Given the description of an element on the screen output the (x, y) to click on. 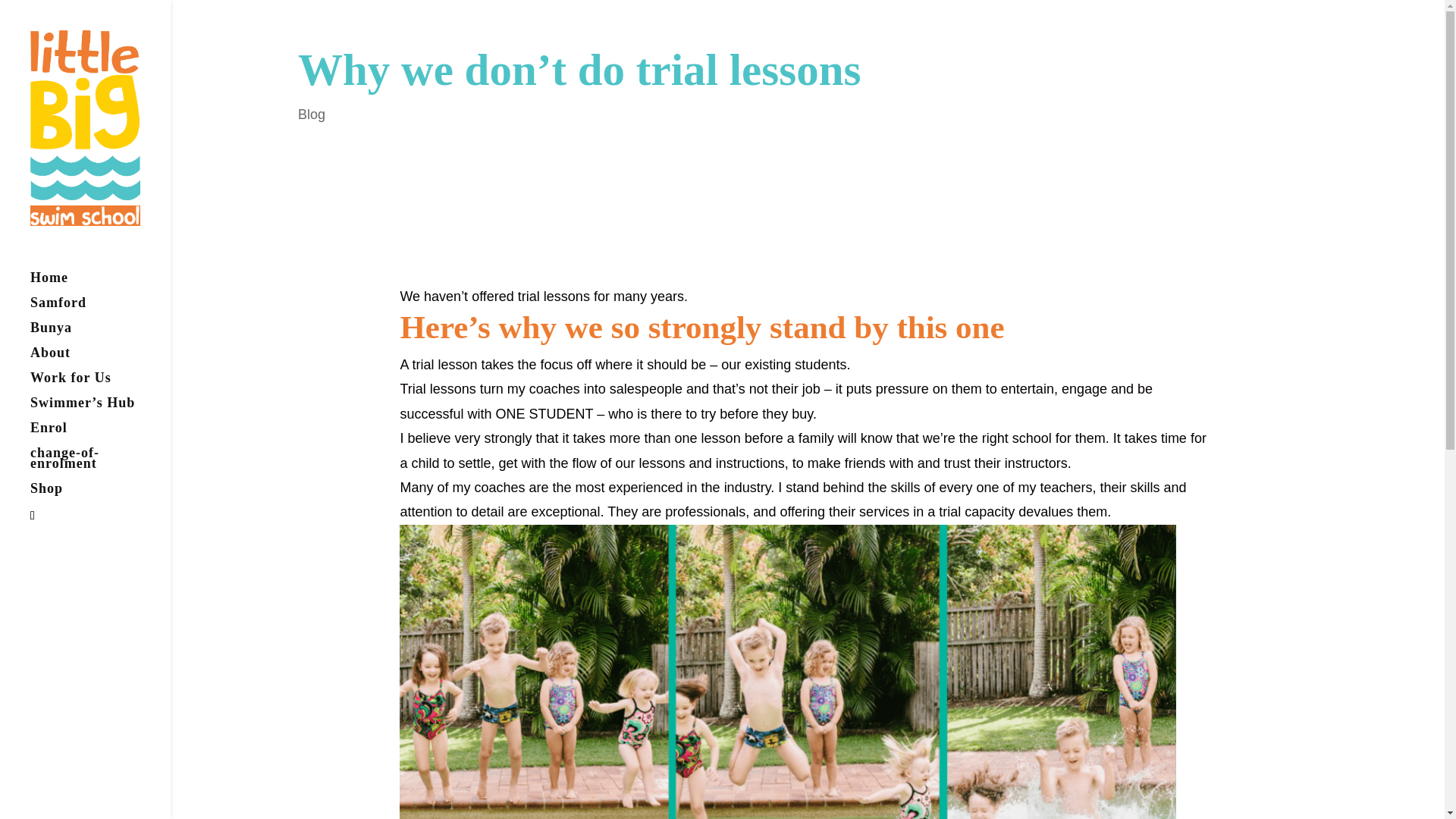
Shop (100, 495)
Bunya (100, 334)
Work for Us (100, 384)
About (100, 359)
Enrol (100, 434)
Samford (100, 309)
change-of-enrolment (100, 465)
Blog (311, 114)
Home (100, 284)
